Given the description of an element on the screen output the (x, y) to click on. 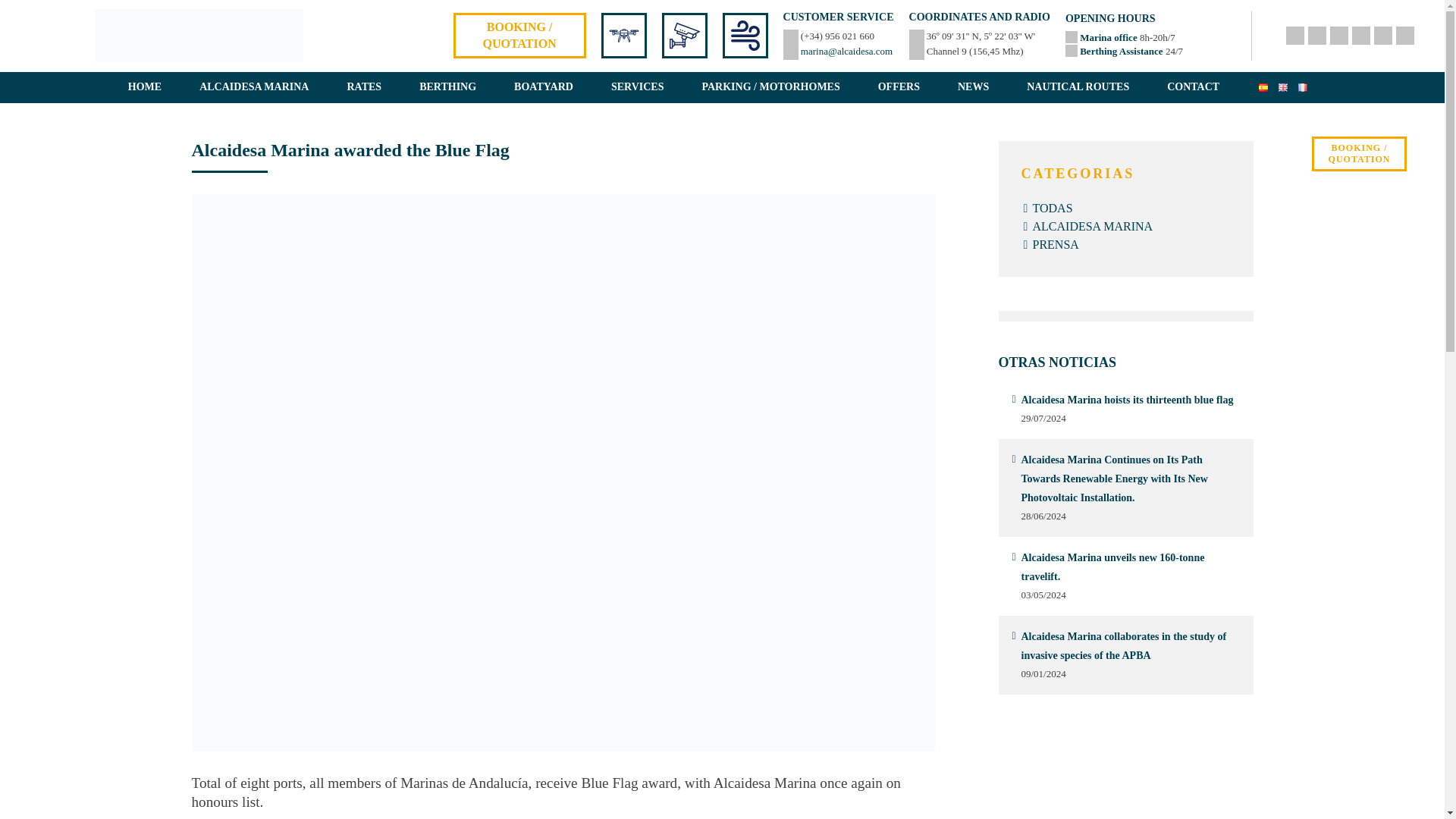
Virtual Tour (623, 35)
BERTHING (447, 87)
RATES (363, 87)
SERVICES (637, 87)
BOATYARD (543, 87)
Wind (745, 35)
HOME (144, 87)
ALCAIDESA MARINA (253, 87)
